Given the description of an element on the screen output the (x, y) to click on. 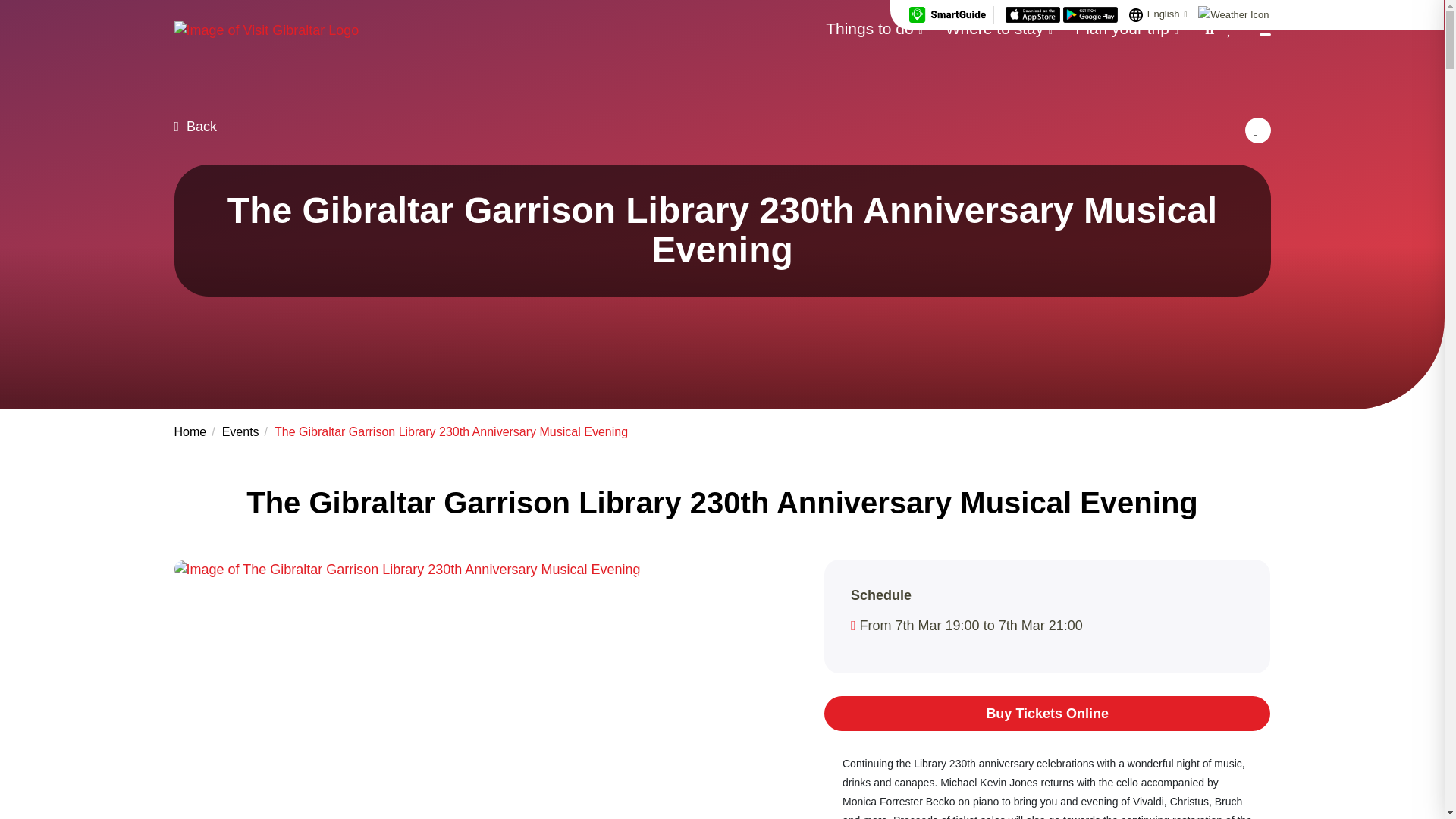
Download on the App Store (1034, 13)
Share (1257, 130)
Language (1135, 15)
Back (195, 126)
Open Menu (1259, 28)
Where to stay (998, 27)
Visit Gibraltar (266, 28)
Get it on Google Play (1090, 13)
Buy Tickets Online (1047, 713)
Smart Guide (946, 13)
